Given the description of an element on the screen output the (x, y) to click on. 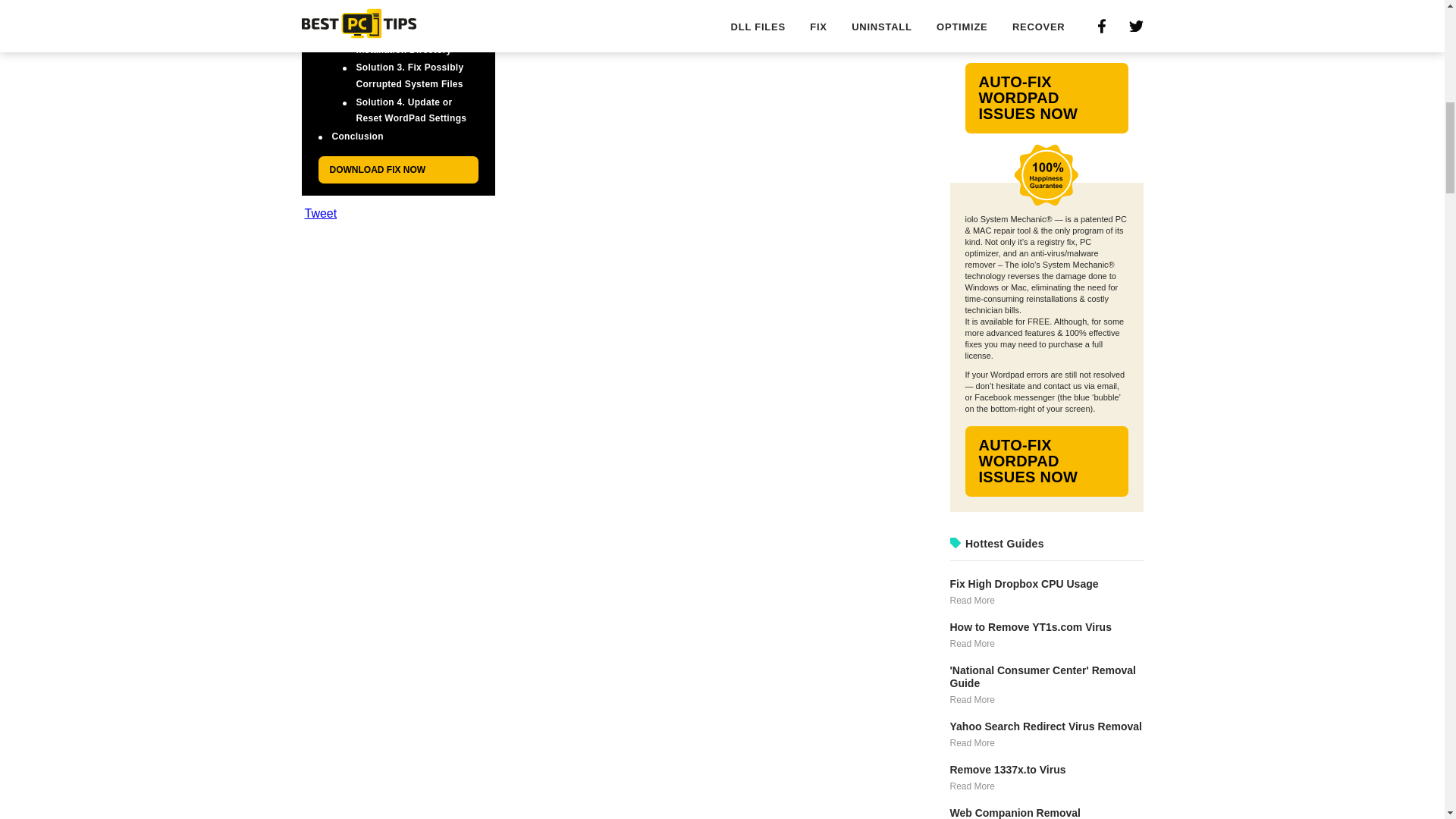
DOWNLOAD FIX NOW (398, 169)
Solution 3. Fix Possibly Corrupted System Files (410, 75)
Solution 4. Update or Reset WordPad Settings (411, 110)
Tweet (320, 213)
Group (1045, 175)
Solution 1: Conduct a Malware Scan (405, 2)
Conclusion (357, 136)
